Given the description of an element on the screen output the (x, y) to click on. 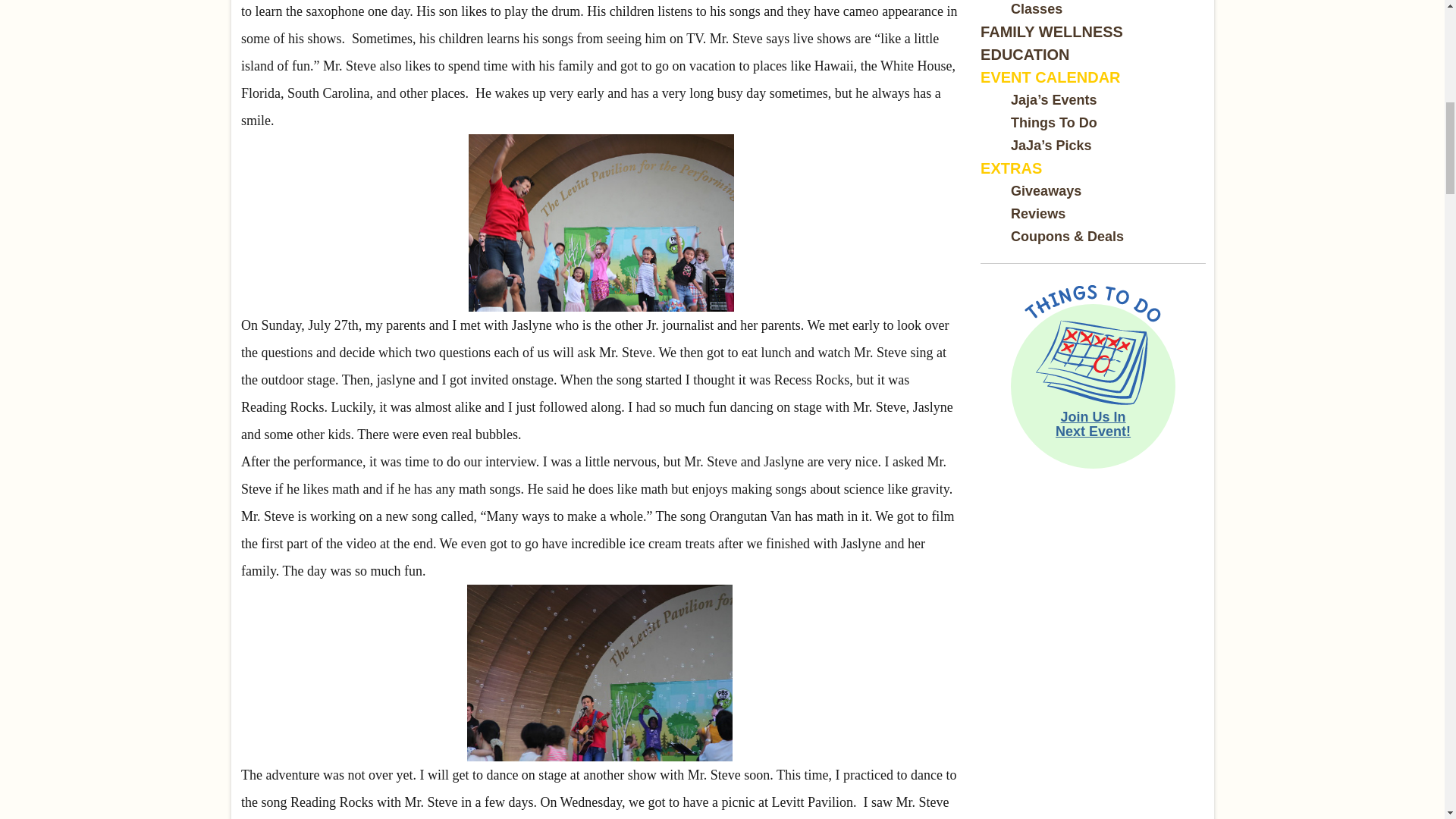
Reviews (1037, 213)
Giveaways (1045, 191)
Things To Do (1053, 122)
EVENT CALENDAR (1049, 76)
EXTRAS (1010, 167)
FAMILY WELLNESS (1050, 31)
EDUCATION (1023, 54)
Classes (1036, 8)
